Given the description of an element on the screen output the (x, y) to click on. 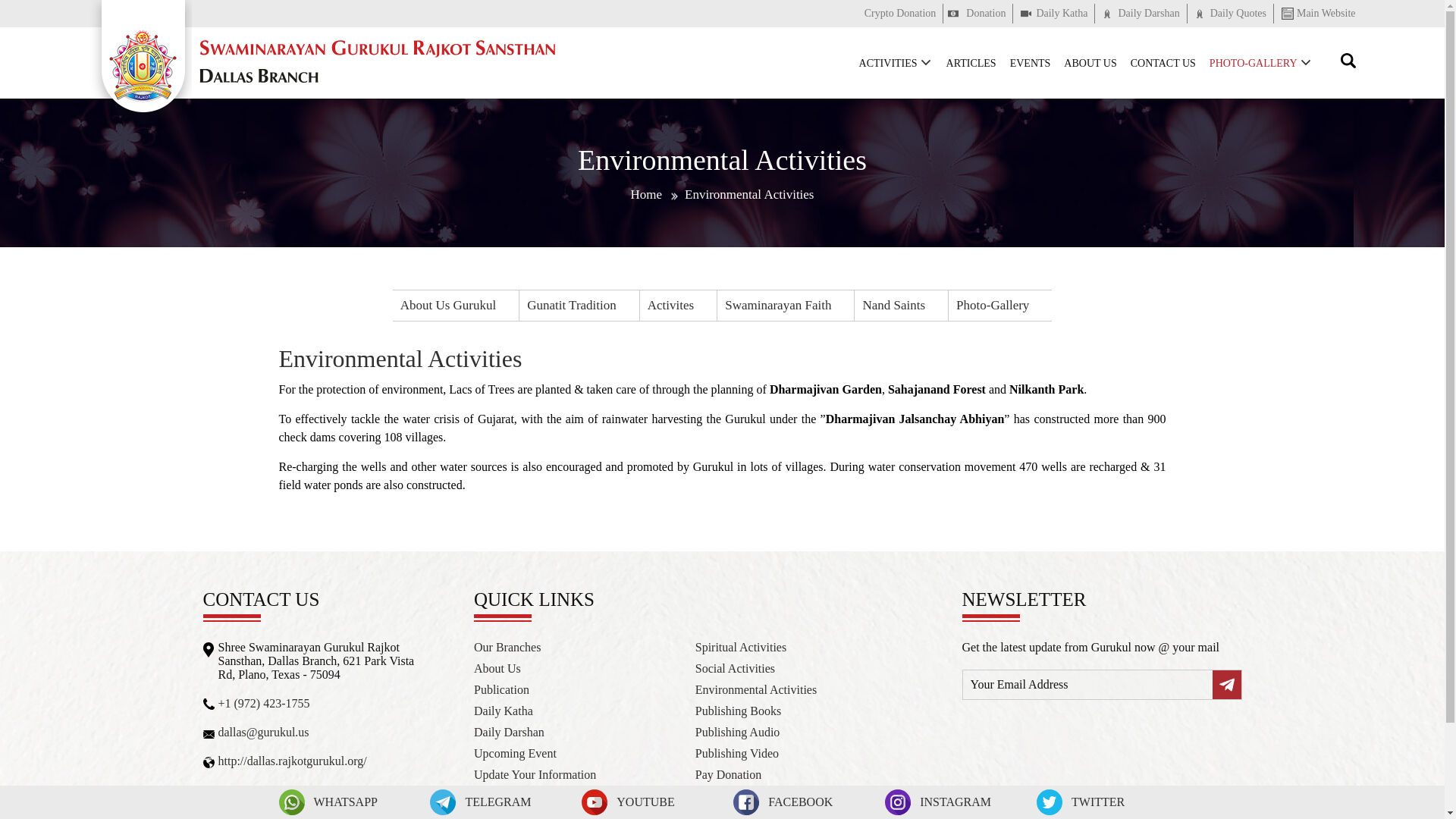
Daily Quotes (1230, 13)
Activities (895, 63)
Bitcoin Donation (900, 13)
ARTICLES (970, 63)
Daily Darshan (1140, 13)
Daily Quotes (1230, 13)
ACTIVITIES (895, 63)
ABOUT US (1089, 63)
Crypto Donation (900, 13)
Daily Katha (1053, 13)
Home (646, 194)
Daily Darshan (1140, 13)
Donation (977, 13)
Main Website (1314, 13)
Swaminarayan Gurukul Rajkot Sansthan (373, 60)
